Given the description of an element on the screen output the (x, y) to click on. 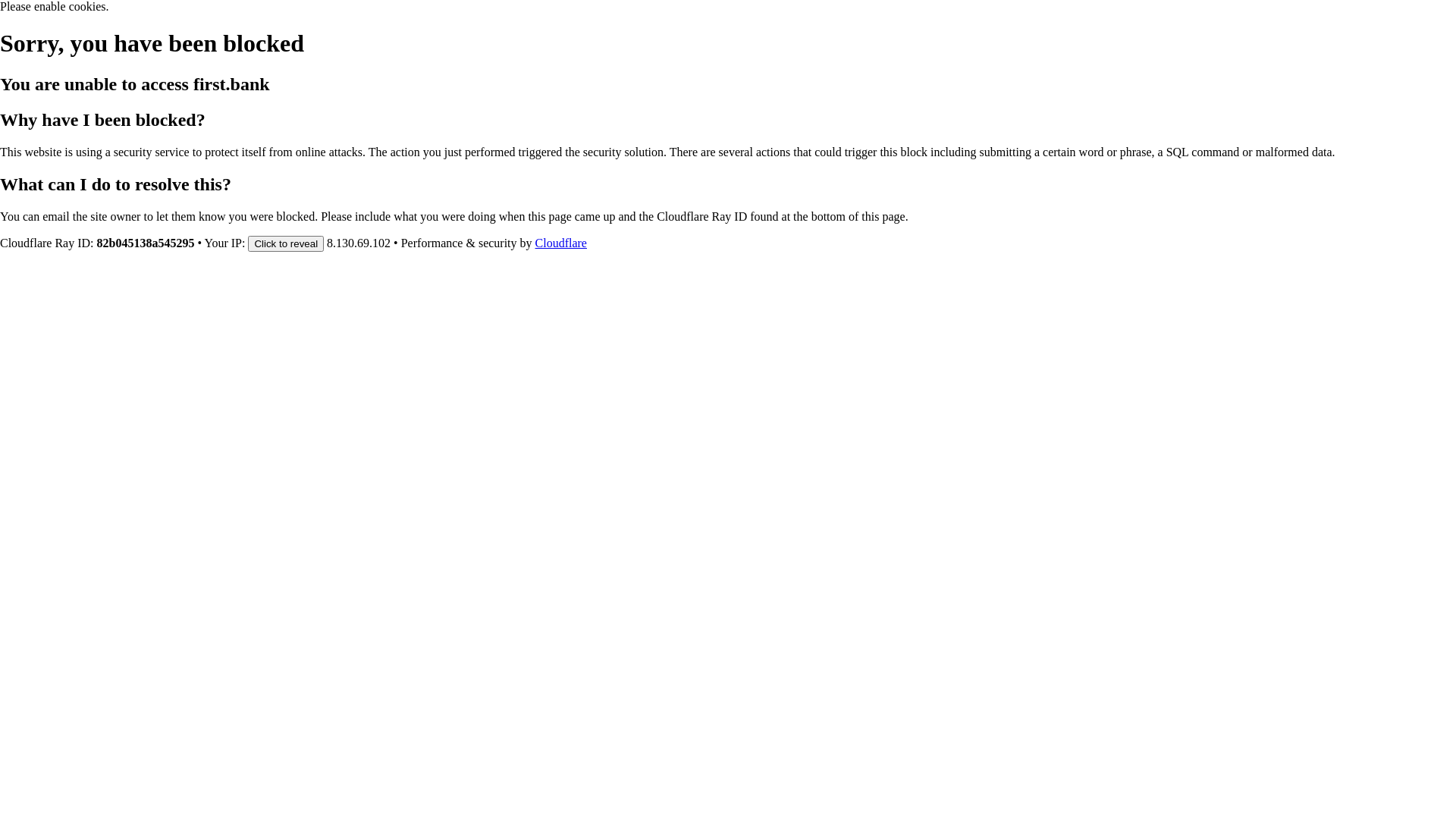
Click to reveal Element type: text (285, 243)
Cloudflare Element type: text (560, 242)
